Given the description of an element on the screen output the (x, y) to click on. 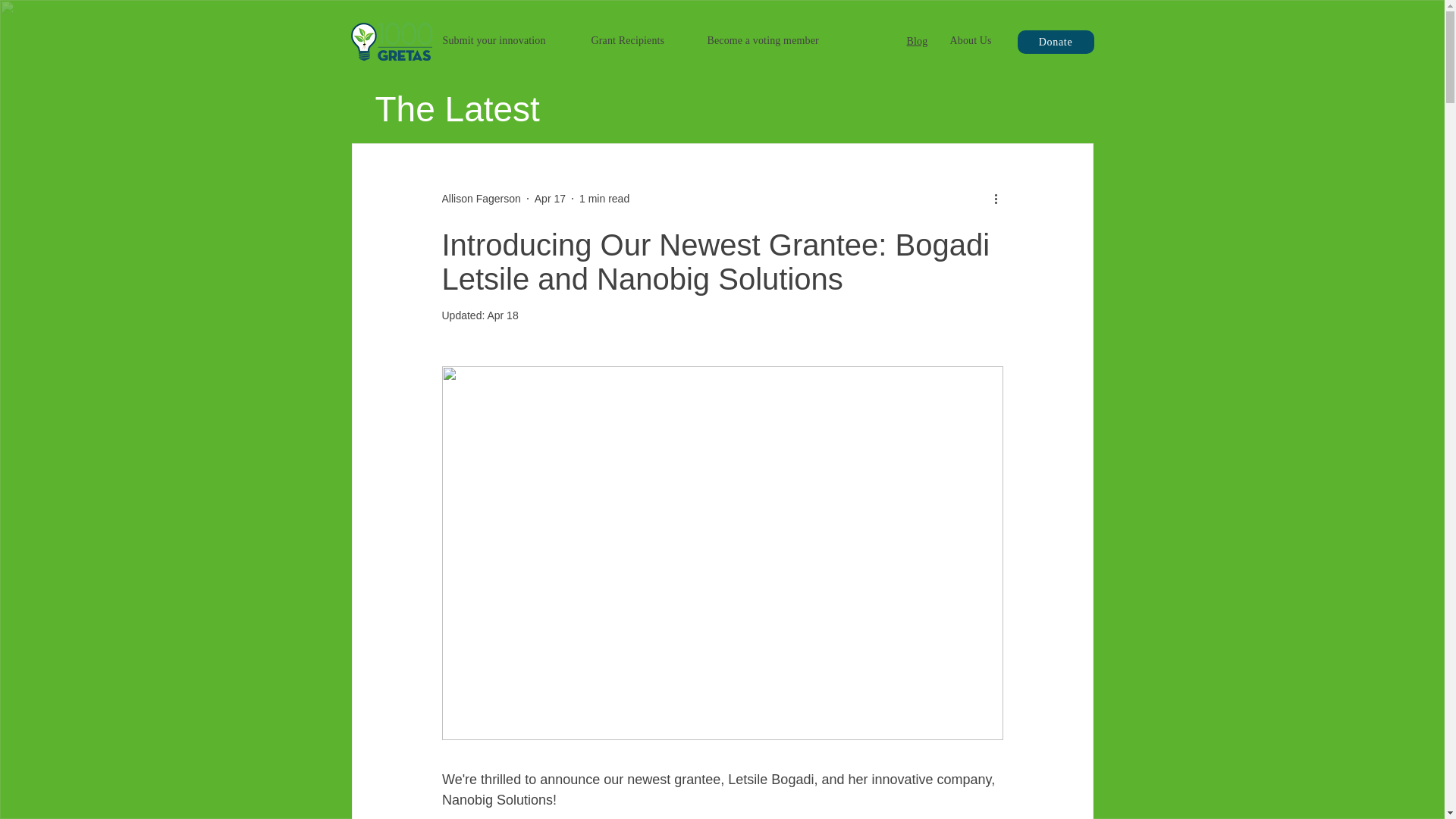
Grant Recipients (628, 40)
About Us (970, 40)
Allison Fagerson (480, 198)
Apr 17 (550, 198)
Donate (1055, 42)
1 min read (603, 198)
Apr 18 (502, 315)
Submit your innovation (494, 40)
Blog (917, 41)
Become a voting member (762, 40)
Allison Fagerson (480, 198)
